Given the description of an element on the screen output the (x, y) to click on. 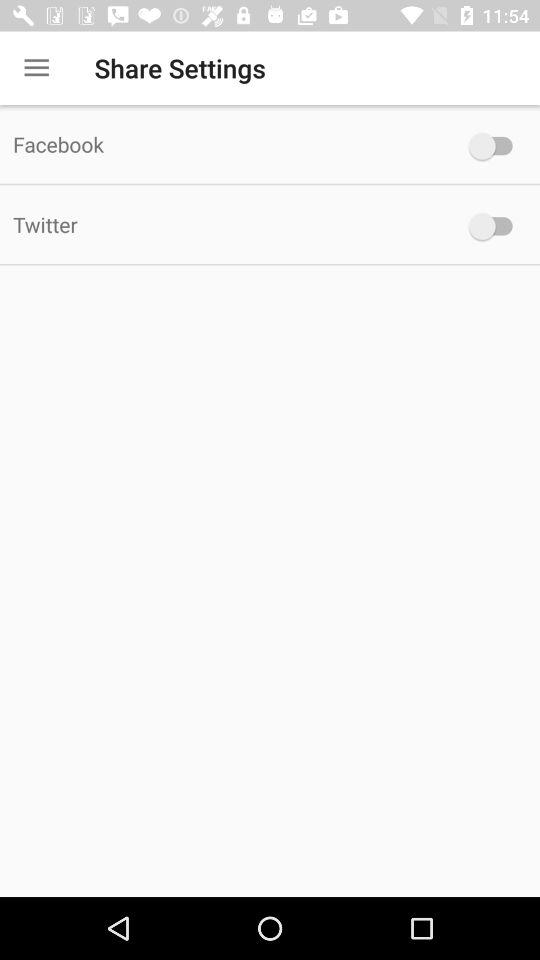
flip until the facebook (225, 144)
